Given the description of an element on the screen output the (x, y) to click on. 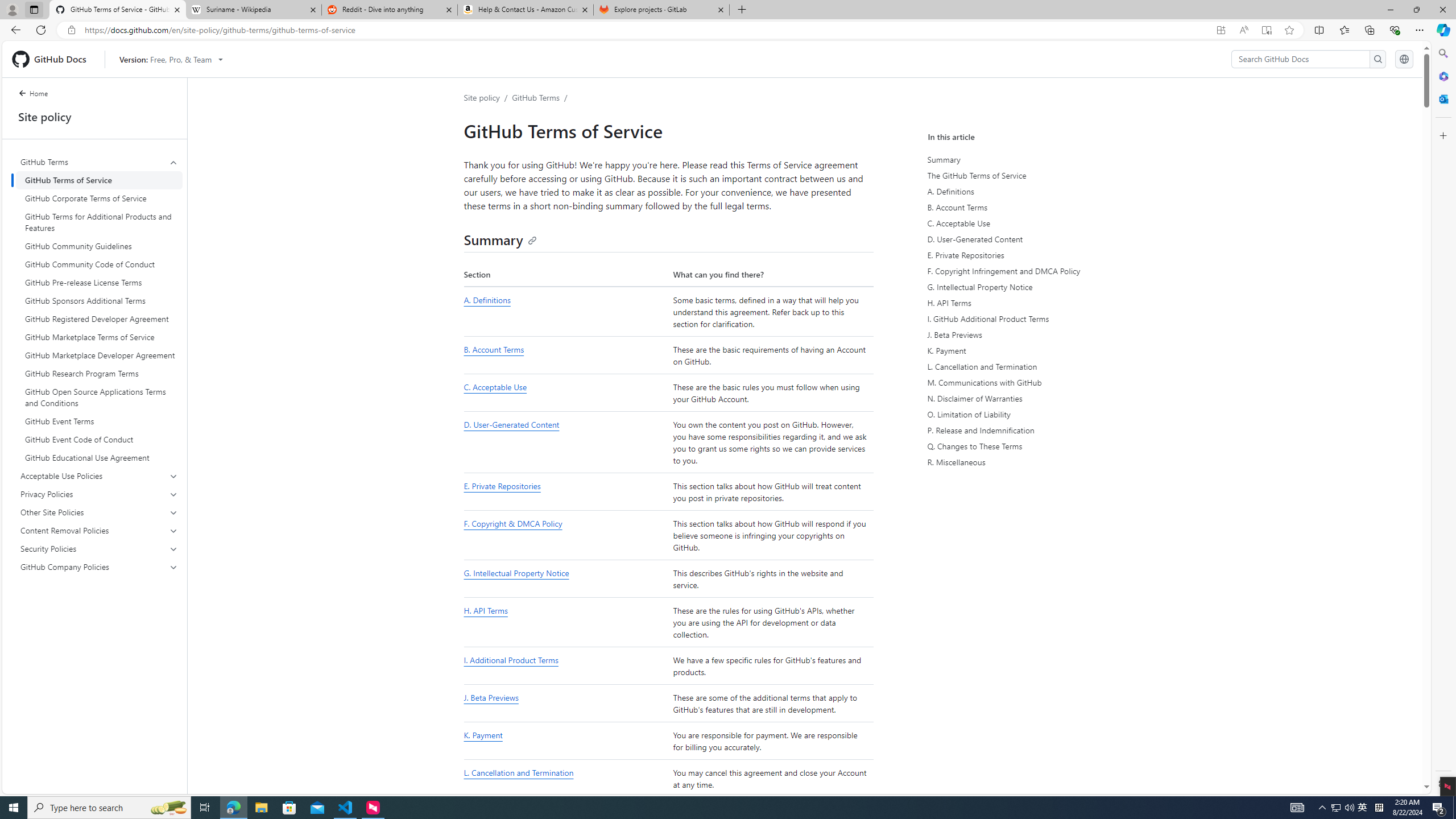
I. GitHub Additional Product Terms (1034, 318)
B. Account Terms (565, 355)
GitHub Terms (535, 97)
Site policy (481, 97)
J. Beta Previews (490, 697)
GitHub Event Terms (99, 420)
This describes GitHub's rights in the website and service. (770, 579)
Q. Changes to These Terms (1034, 446)
Other Site Policies (99, 512)
